Given the description of an element on the screen output the (x, y) to click on. 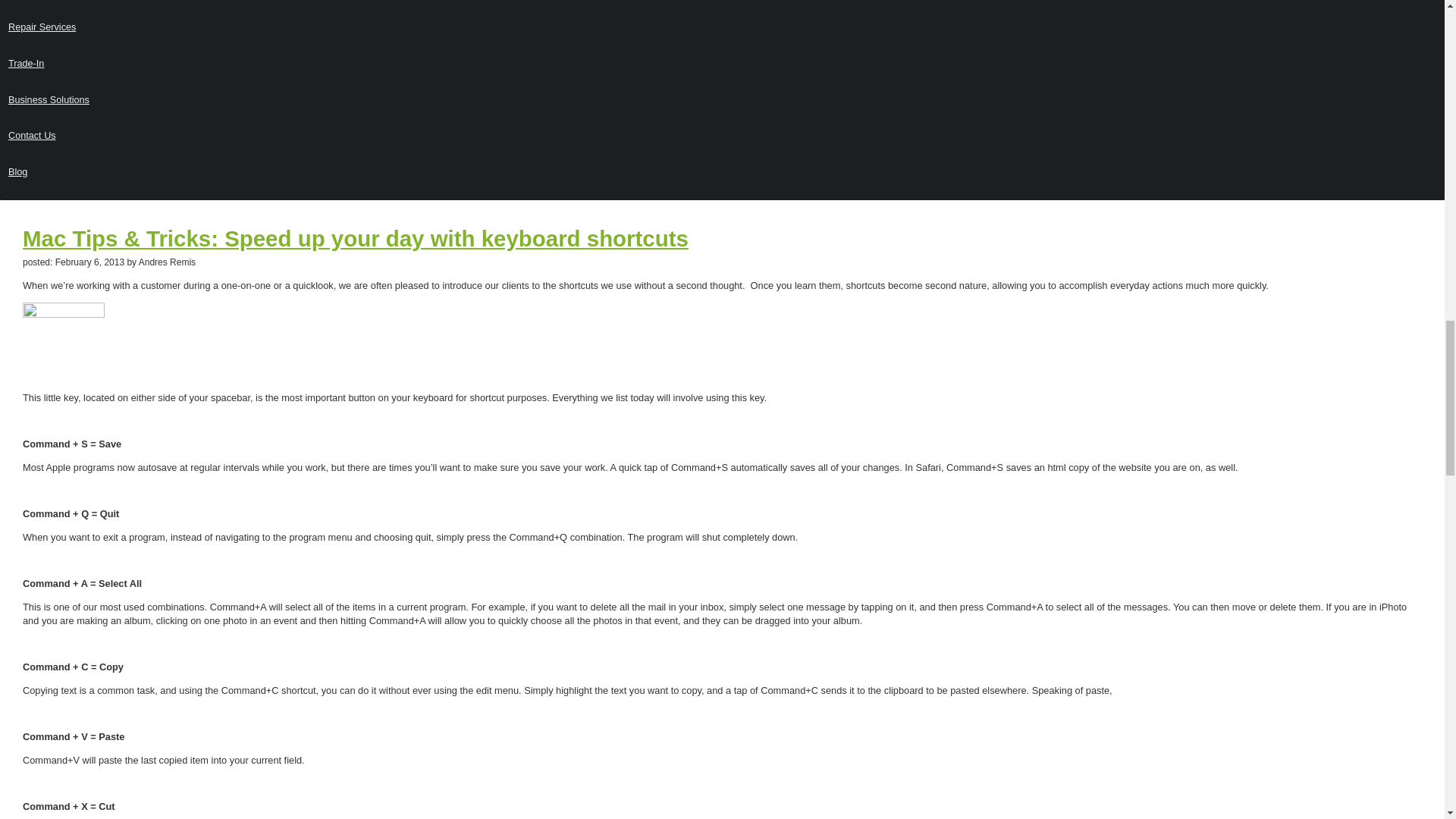
Repair Services (722, 27)
Blog (722, 172)
Business Solutions (722, 100)
Trade-In (722, 63)
Contact Us (722, 135)
